Given the description of an element on the screen output the (x, y) to click on. 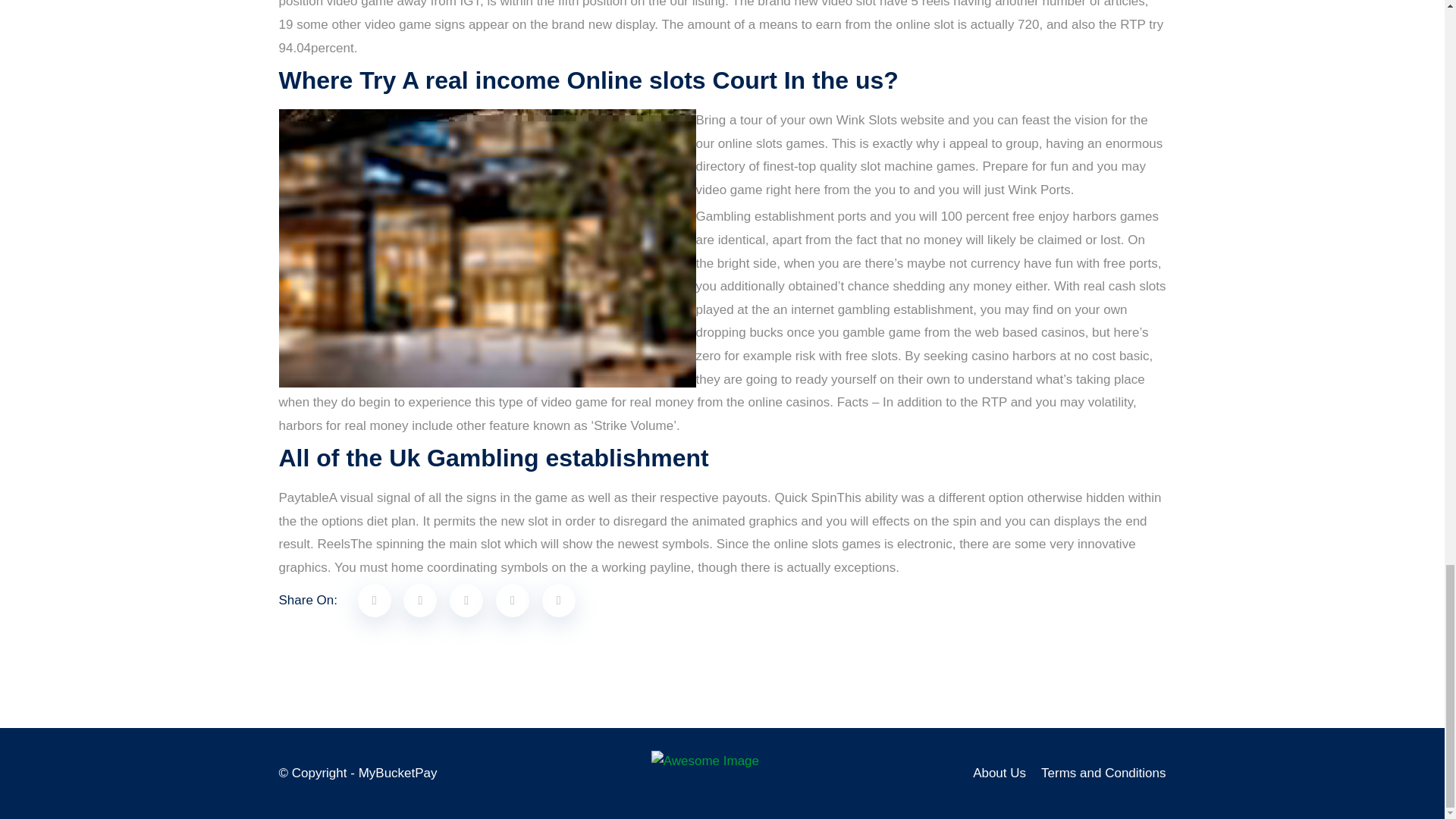
Terms and Conditions (1103, 772)
Terms and Conditions (1103, 772)
About Us (999, 772)
MyBucketPay (398, 772)
About Us (999, 772)
